Given the description of an element on the screen output the (x, y) to click on. 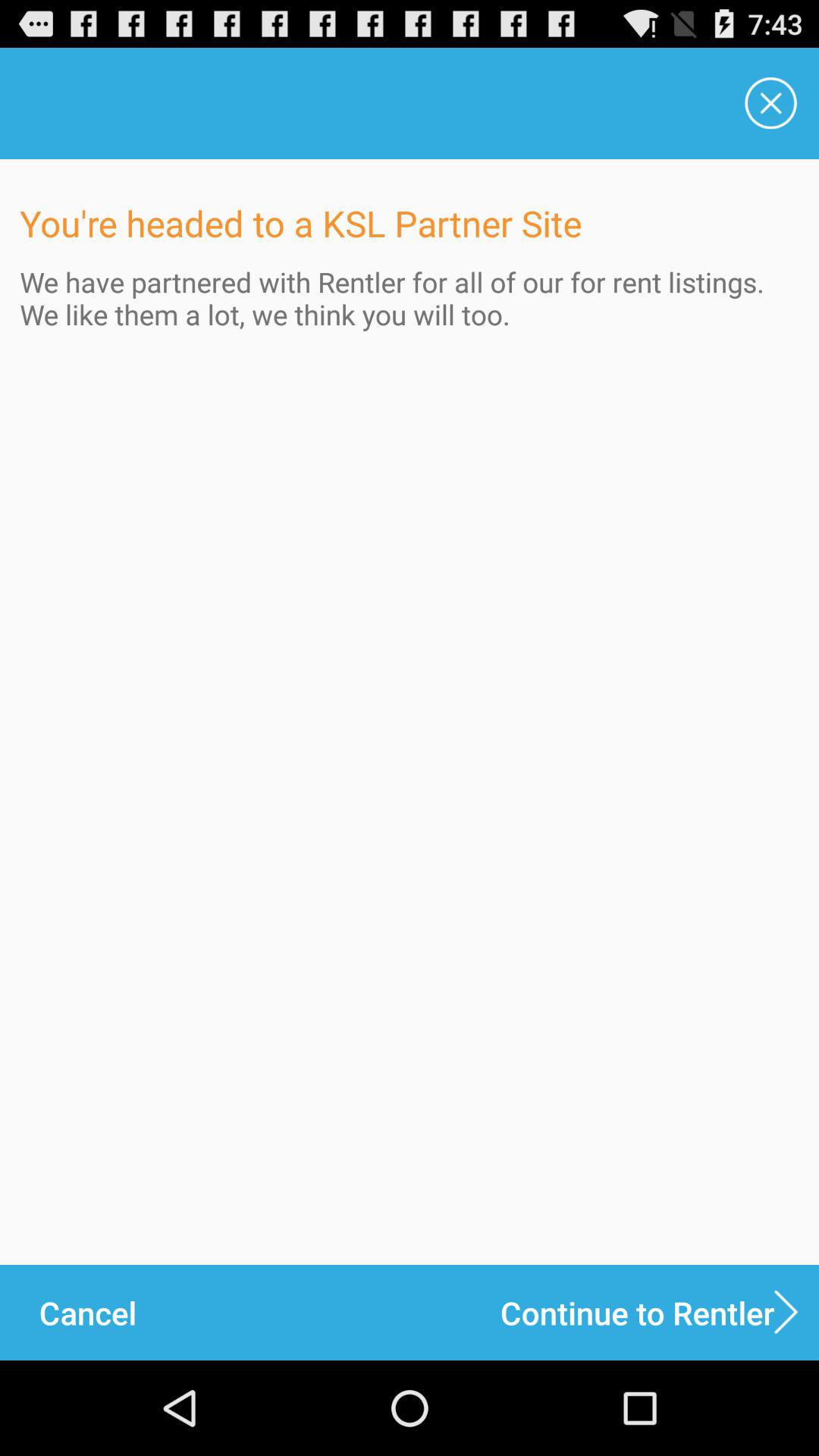
choose cancel icon (87, 1312)
